Given the description of an element on the screen output the (x, y) to click on. 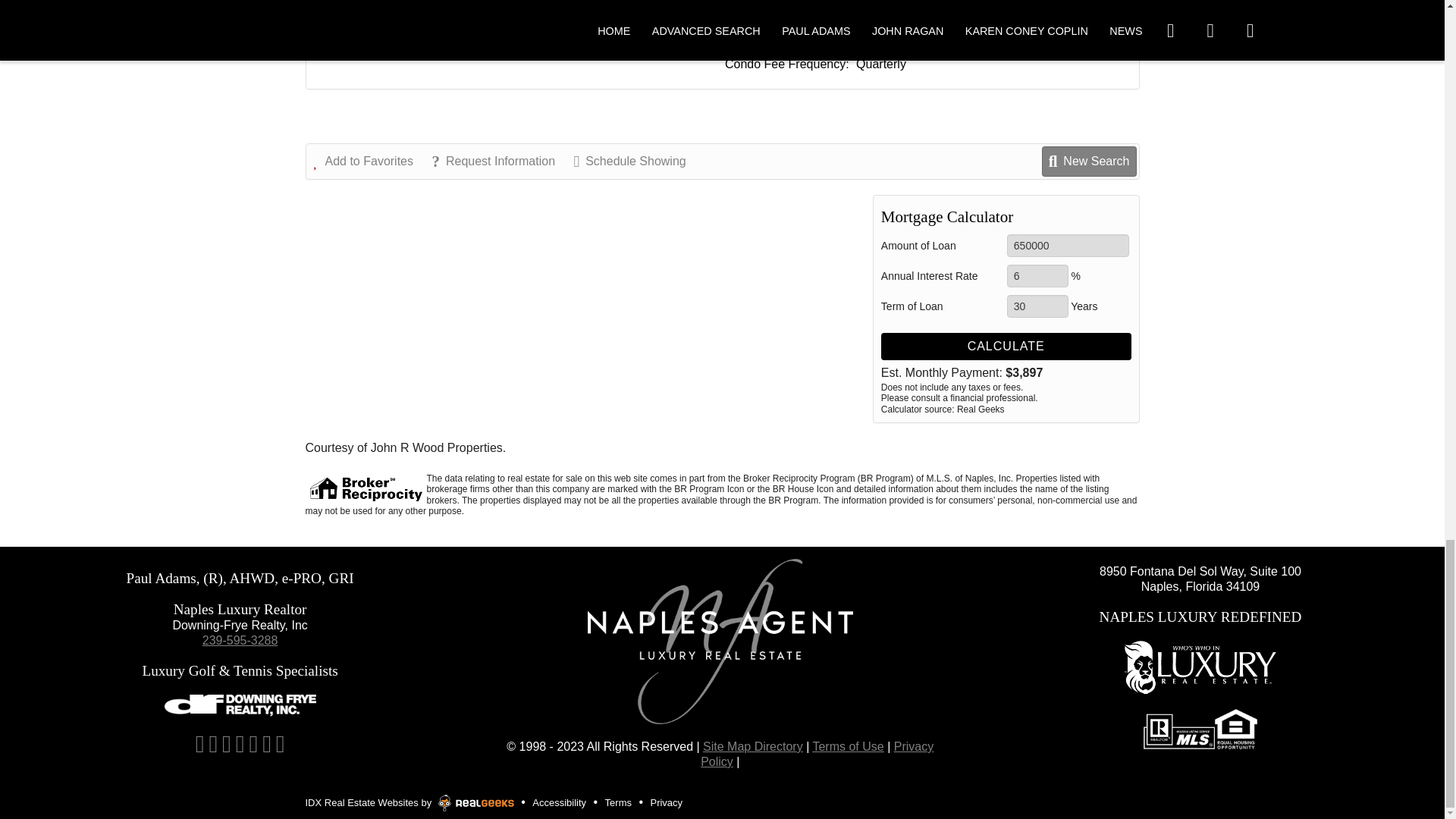
30 (1037, 305)
650000 (1068, 245)
6 (1037, 275)
